Given the description of an element on the screen output the (x, y) to click on. 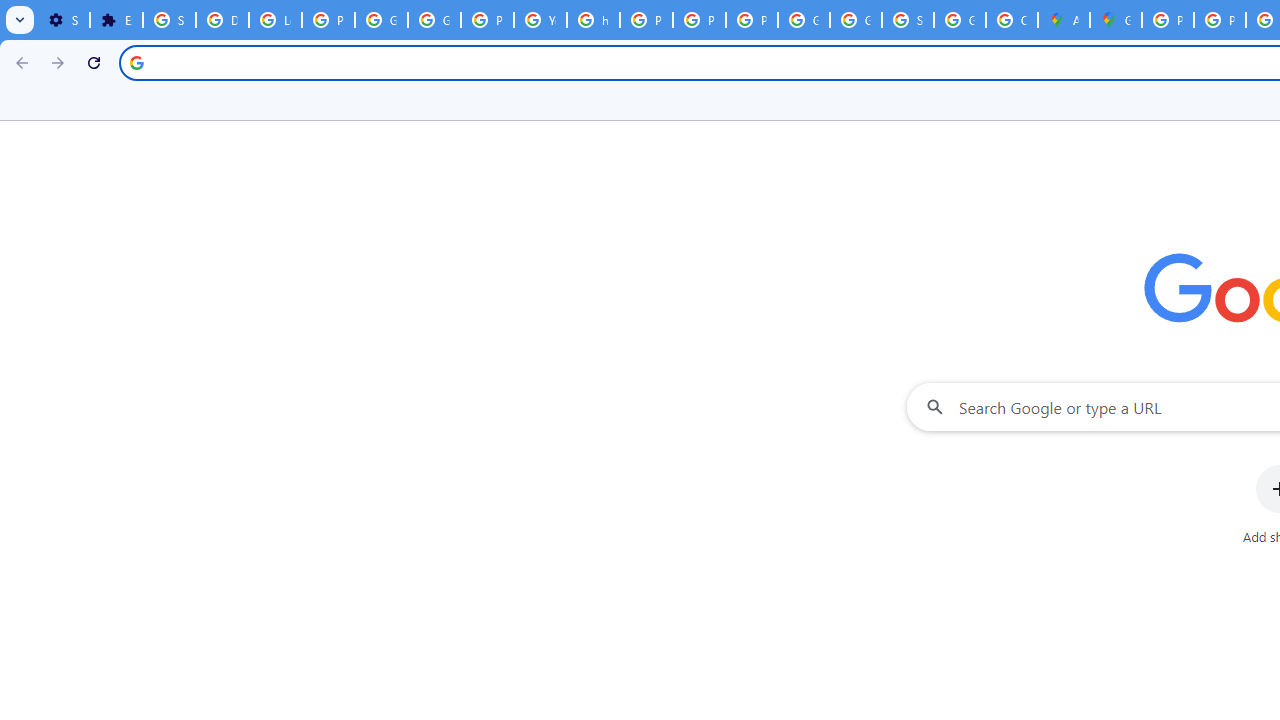
Search icon (136, 62)
Sign in - Google Accounts (907, 20)
Delete photos & videos - Computer - Google Photos Help (222, 20)
Settings - On startup (63, 20)
Forward (57, 62)
YouTube (540, 20)
Policy Accountability and Transparency - Transparency Center (1167, 20)
Learn how to find your photos - Google Photos Help (275, 20)
Google Maps (1115, 20)
Sign in - Google Accounts (169, 20)
Reload (93, 62)
Create your Google Account (1011, 20)
